Given the description of an element on the screen output the (x, y) to click on. 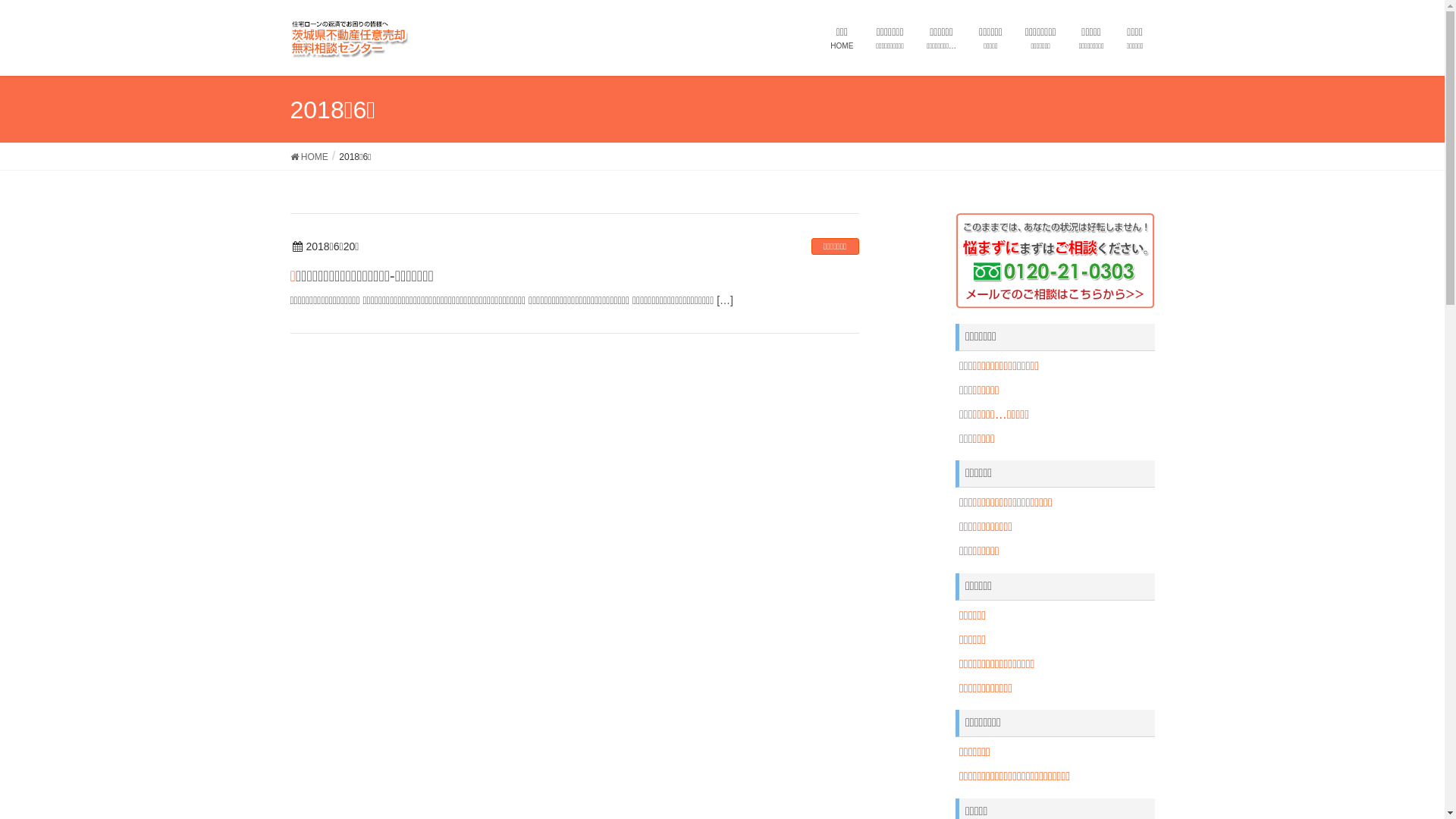
HOME Element type: text (308, 156)
